Given the description of an element on the screen output the (x, y) to click on. 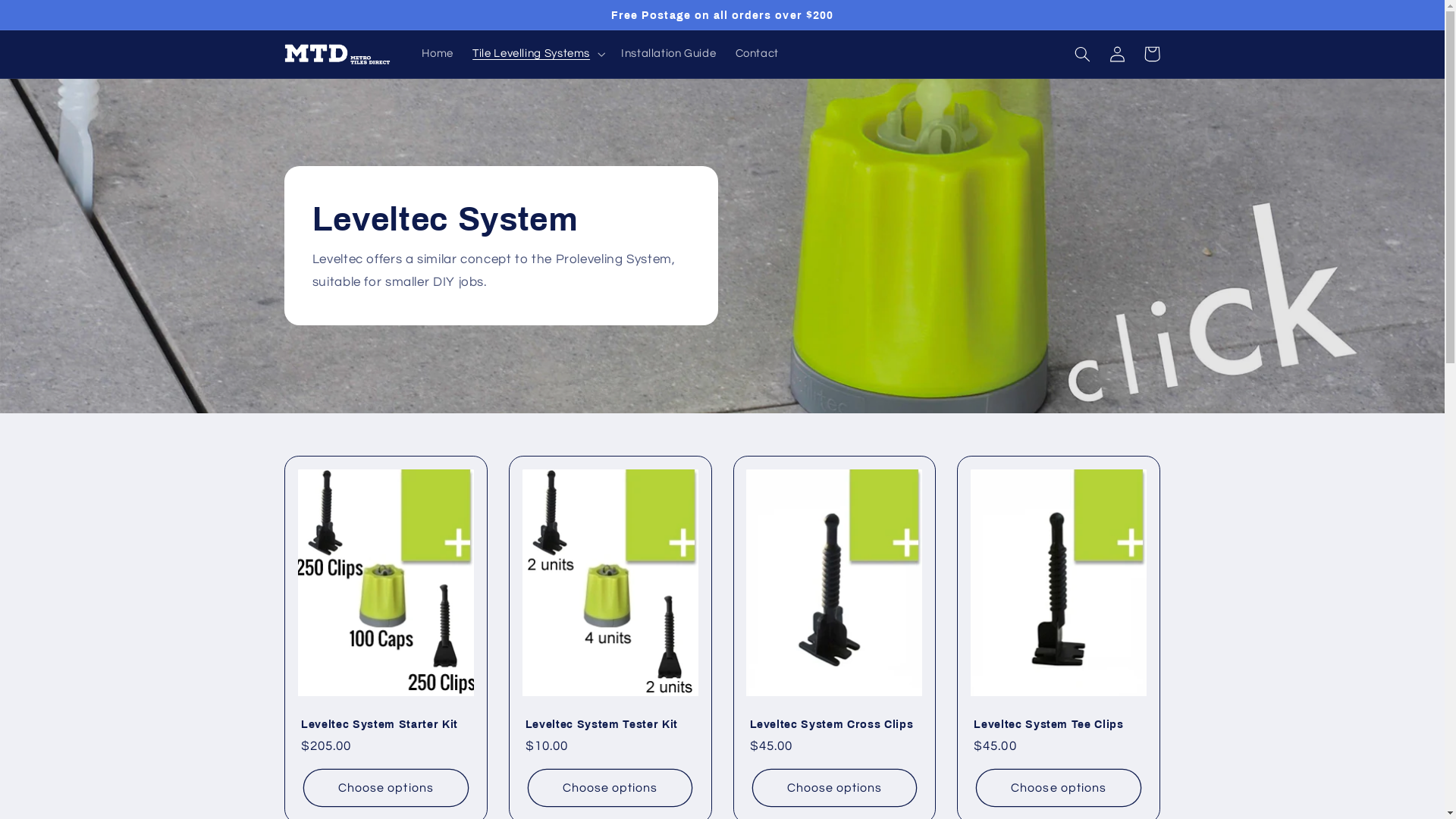
Installation Guide Element type: text (668, 53)
Choose options Element type: text (1057, 787)
Leveltec System Tester Kit Element type: text (610, 724)
Choose options Element type: text (609, 787)
Contact Element type: text (756, 53)
Choose options Element type: text (385, 787)
Home Element type: text (437, 53)
Choose options Element type: text (834, 787)
Leveltec System Starter Kit Element type: text (385, 724)
Leveltec System Tee Clips Element type: text (1058, 724)
Log in Element type: text (1116, 53)
Cart Element type: text (1151, 53)
Leveltec System Cross Clips Element type: text (834, 724)
